Given the description of an element on the screen output the (x, y) to click on. 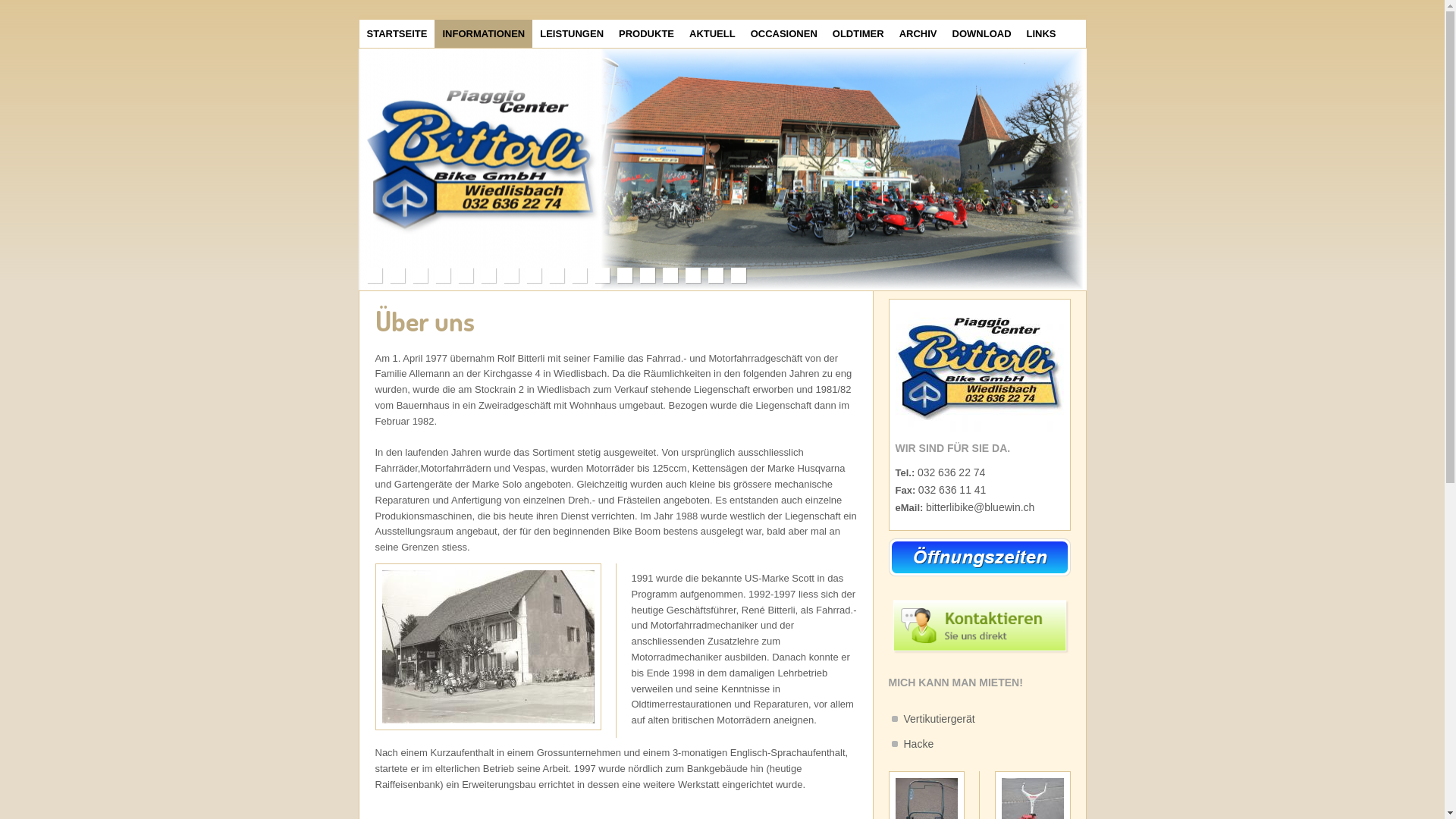
LEISTUNGEN Element type: text (571, 33)
LINKS Element type: text (1041, 33)
OCCASIONEN Element type: text (784, 33)
PRODUKTE Element type: text (646, 33)
AKTUELL Element type: text (712, 33)
OLDTIMER Element type: text (858, 33)
DOWNLOAD Element type: text (981, 33)
INFORMATIONEN Element type: text (483, 33)
STARTSEITE Element type: text (397, 33)
ARCHIV Element type: text (917, 33)
